Given the description of an element on the screen output the (x, y) to click on. 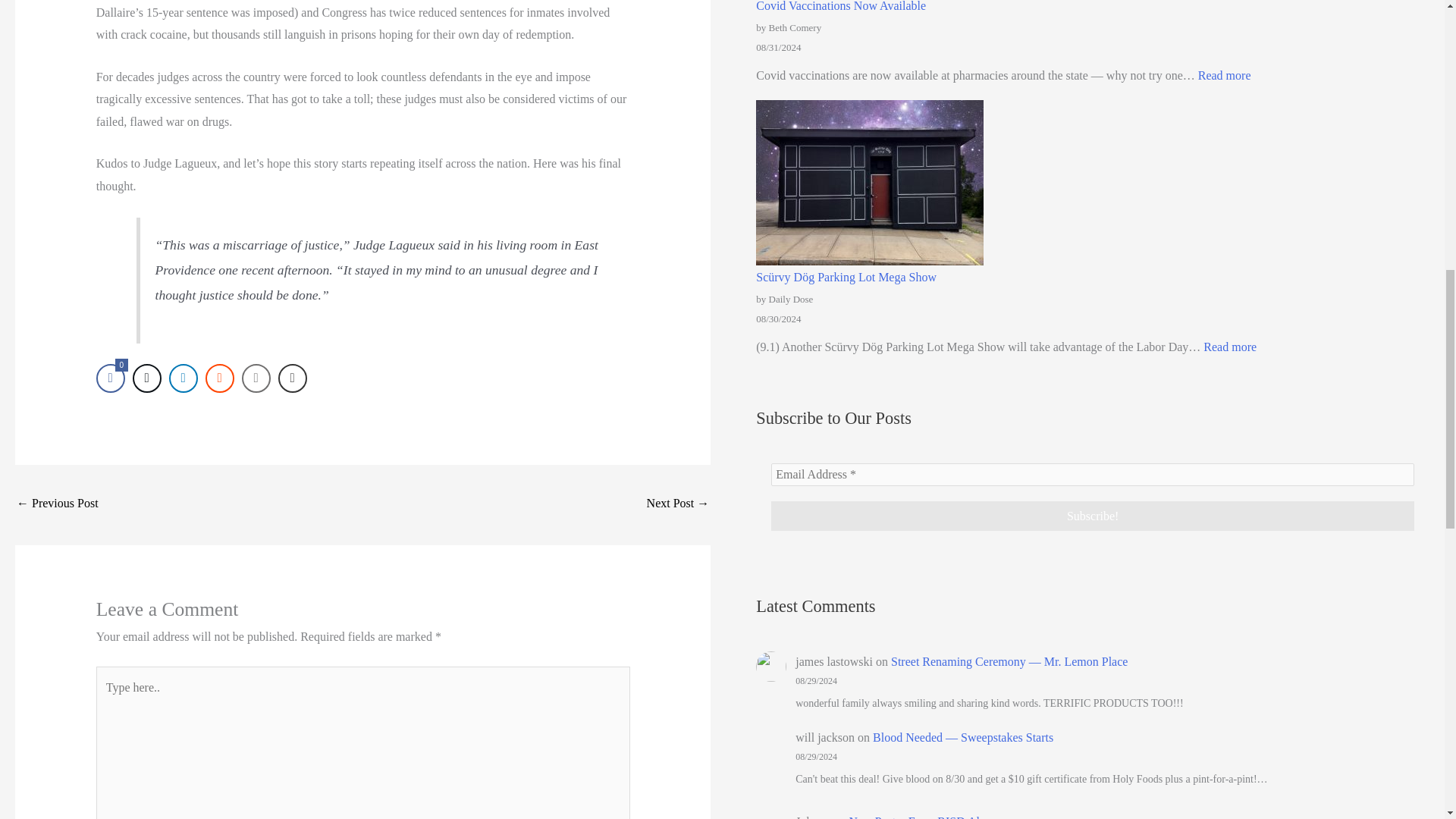
Subscribe! (1092, 516)
0 (110, 378)
Go Outside And Play (678, 504)
Email Address (1092, 474)
Subscribe! (1224, 74)
Covid Vaccinations Now Available (1092, 516)
